Given the description of an element on the screen output the (x, y) to click on. 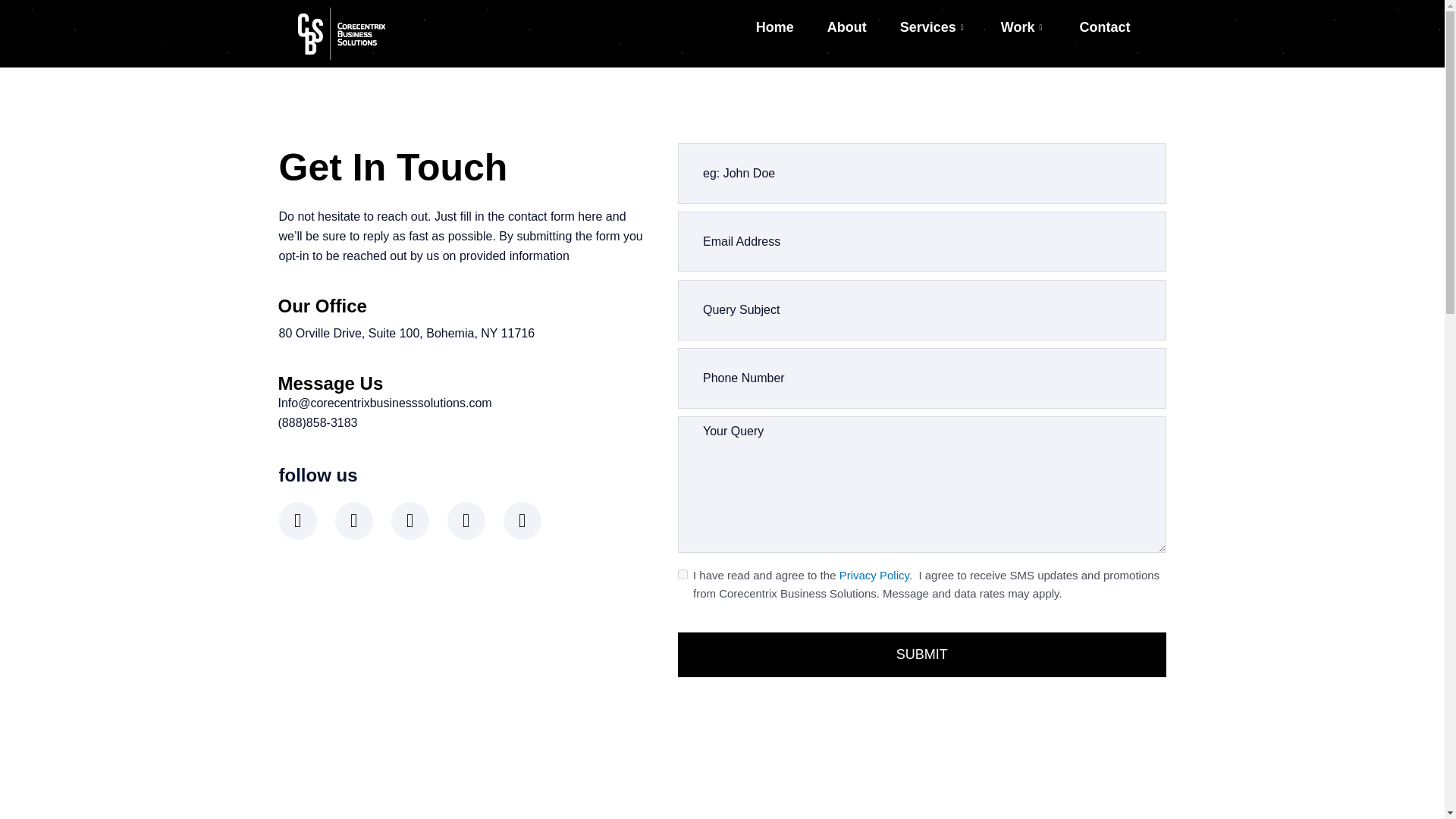
80 Orville Drive, Suite 100, Bohemia, NY 11716 (722, 789)
About (846, 26)
Home (774, 26)
Services (933, 26)
on (682, 574)
